Given the description of an element on the screen output the (x, y) to click on. 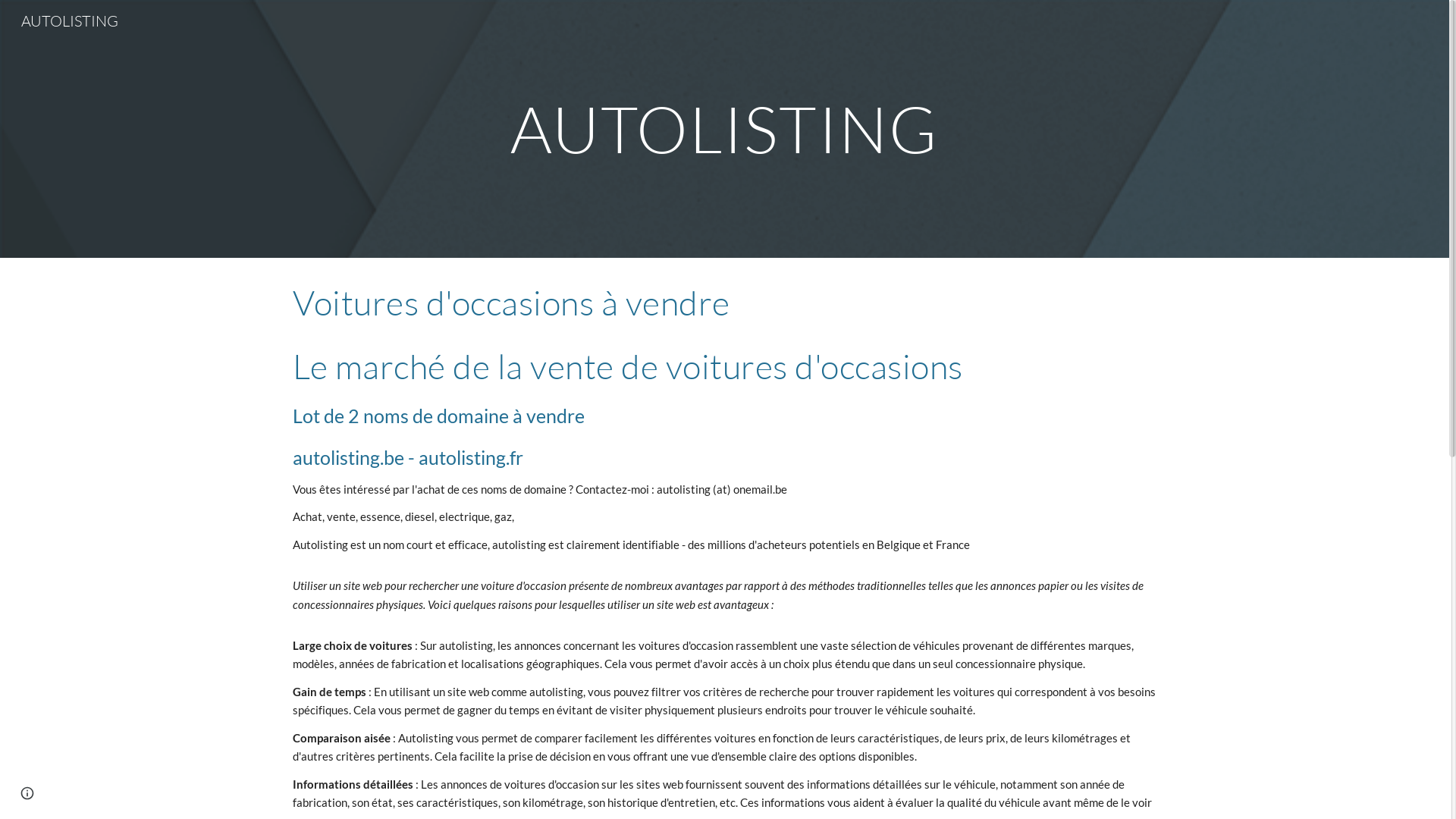
AUTOLISTING Element type: text (69, 18)
